Given the description of an element on the screen output the (x, y) to click on. 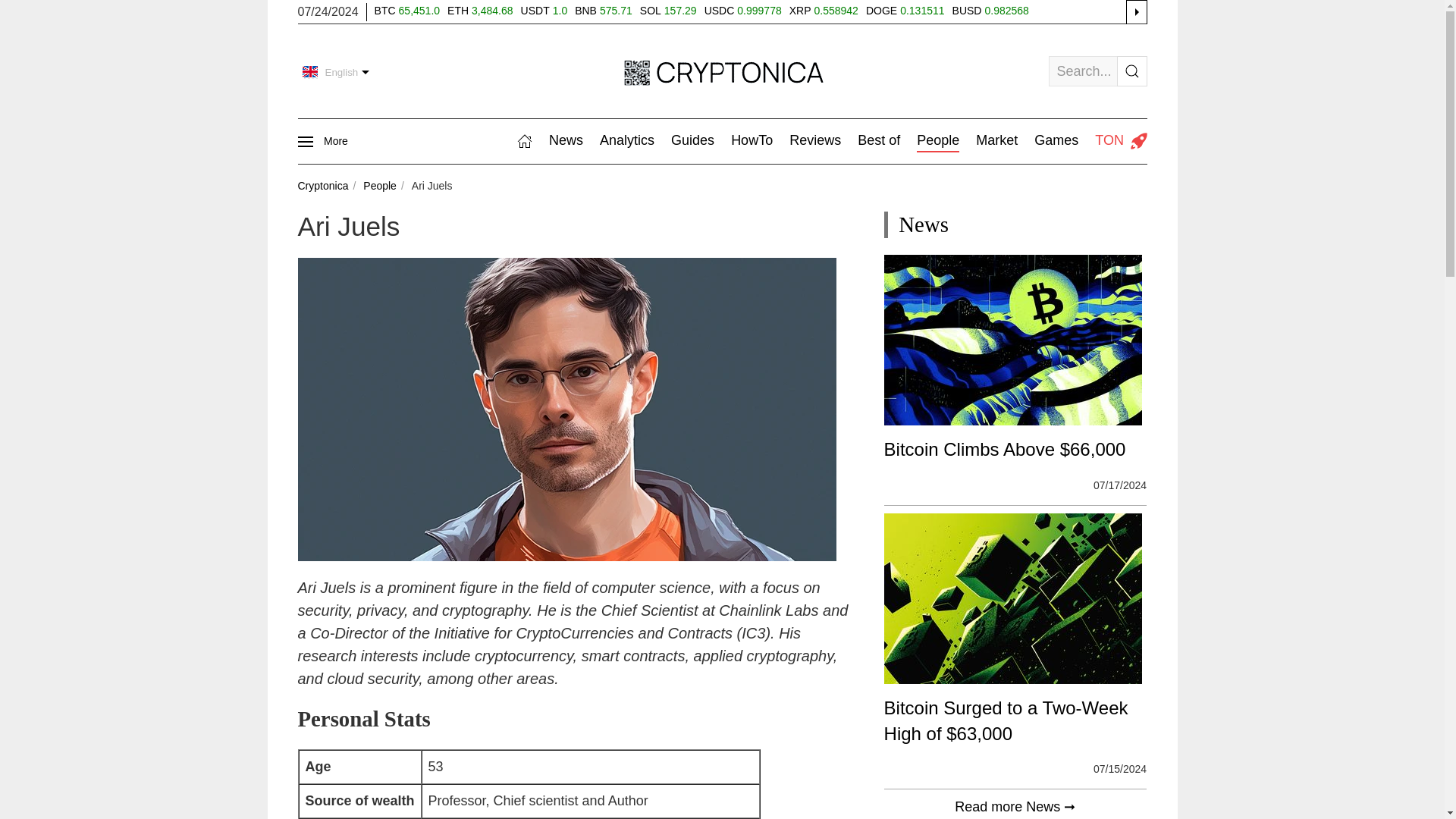
USDC (721, 10)
Market (996, 141)
USDT (537, 10)
see all (1136, 11)
Analytics (626, 141)
BNB (587, 10)
English (337, 72)
News (565, 141)
More (322, 141)
TON (1120, 141)
XRP (801, 10)
Best of (878, 141)
BUSD (968, 10)
Reviews (815, 141)
BTC (386, 10)
